Given the description of an element on the screen output the (x, y) to click on. 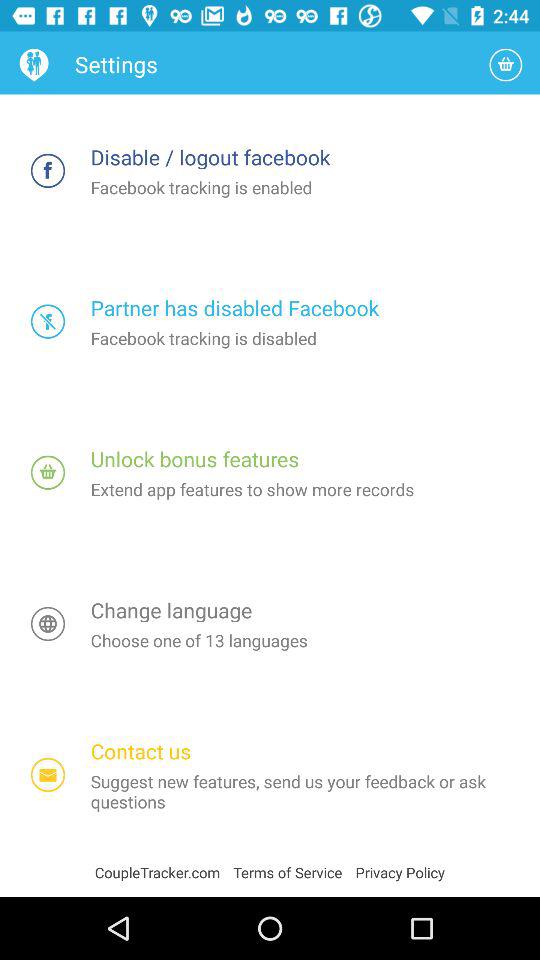
open app developer contact page (47, 774)
